Given the description of an element on the screen output the (x, y) to click on. 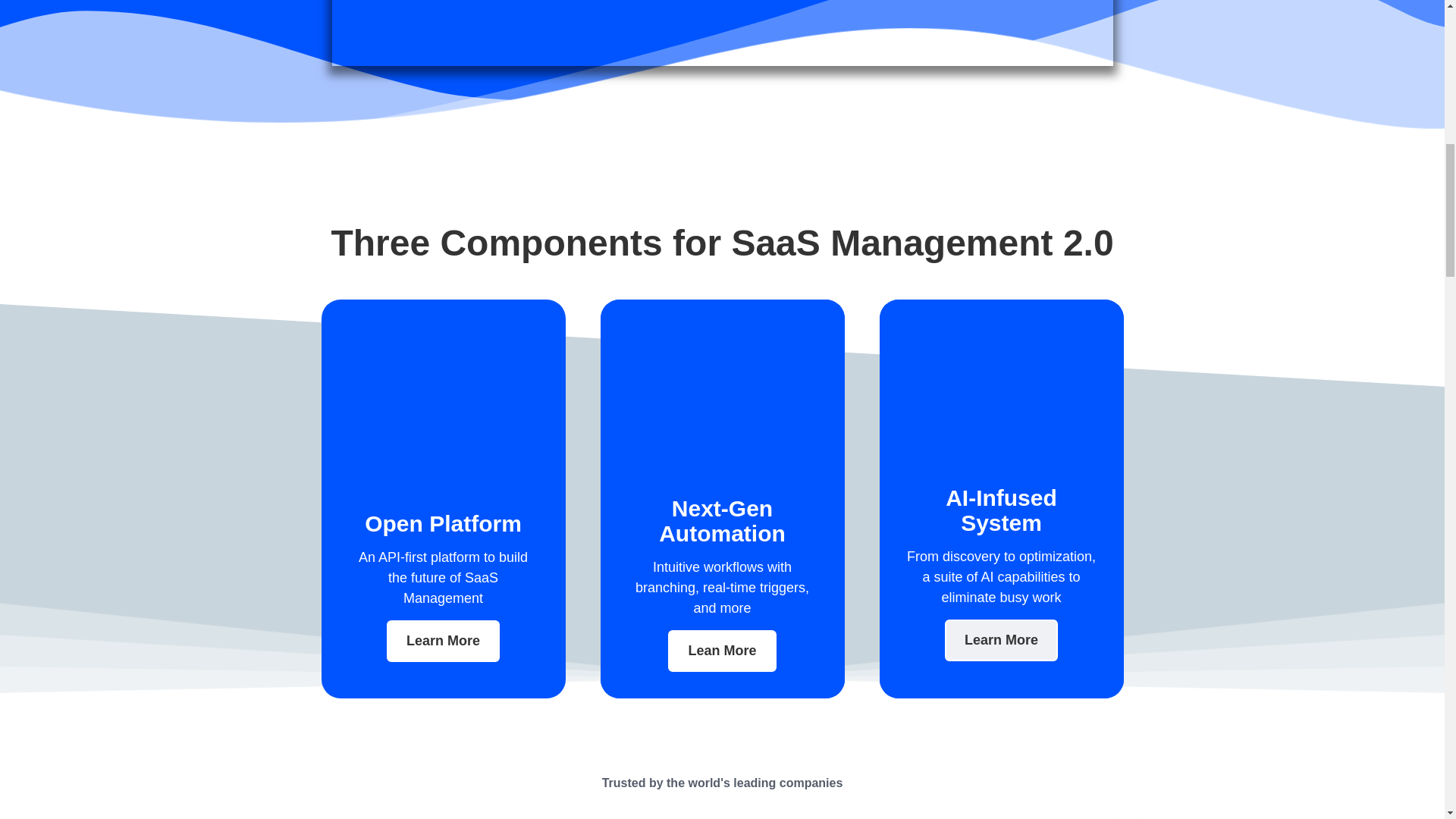
SaaS Management 2.0 Launch Video (722, 33)
